Given the description of an element on the screen output the (x, y) to click on. 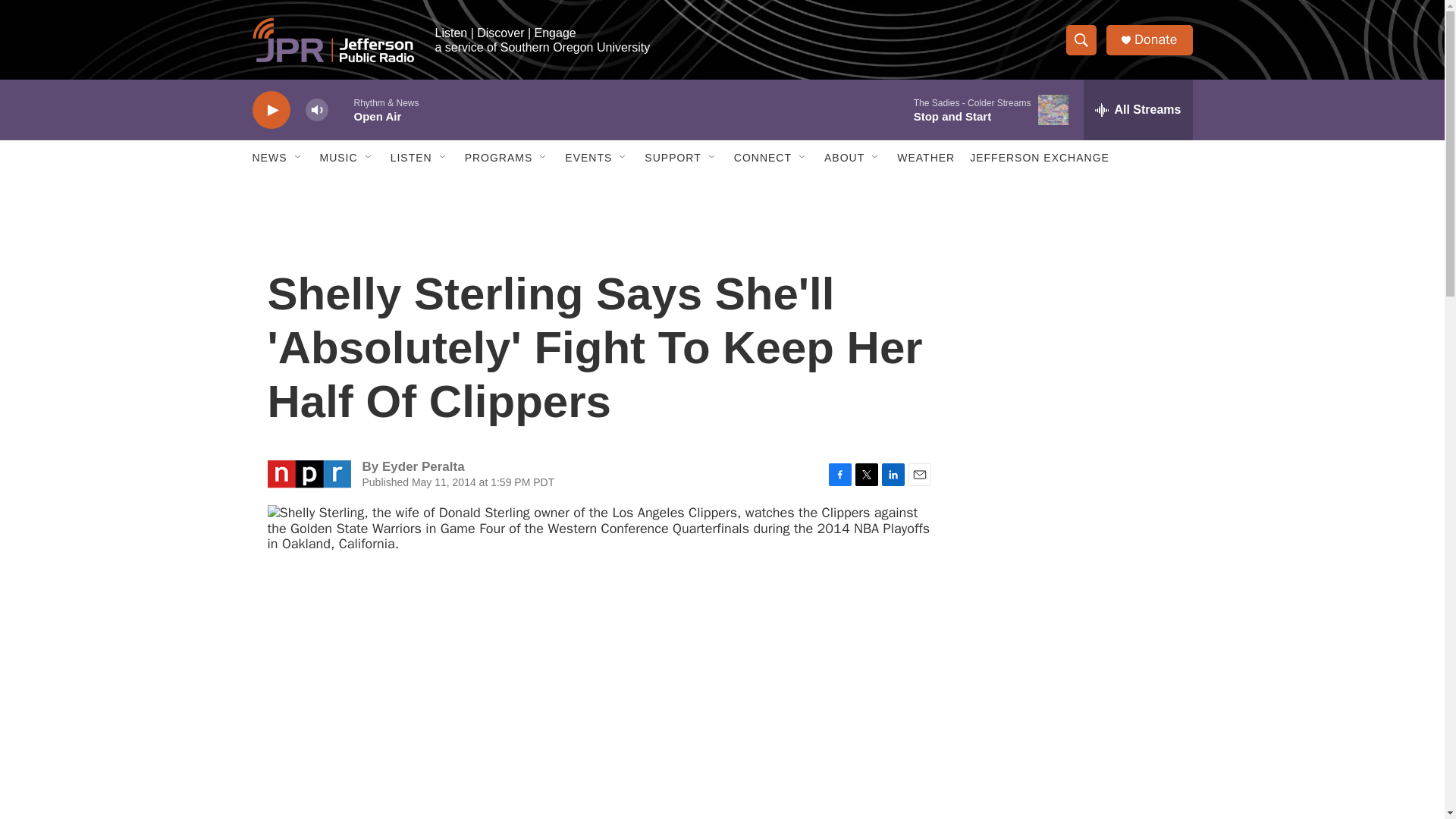
3rd party ad content (1093, 316)
3rd party ad content (1093, 536)
3rd party ad content (1093, 740)
